Given the description of an element on the screen output the (x, y) to click on. 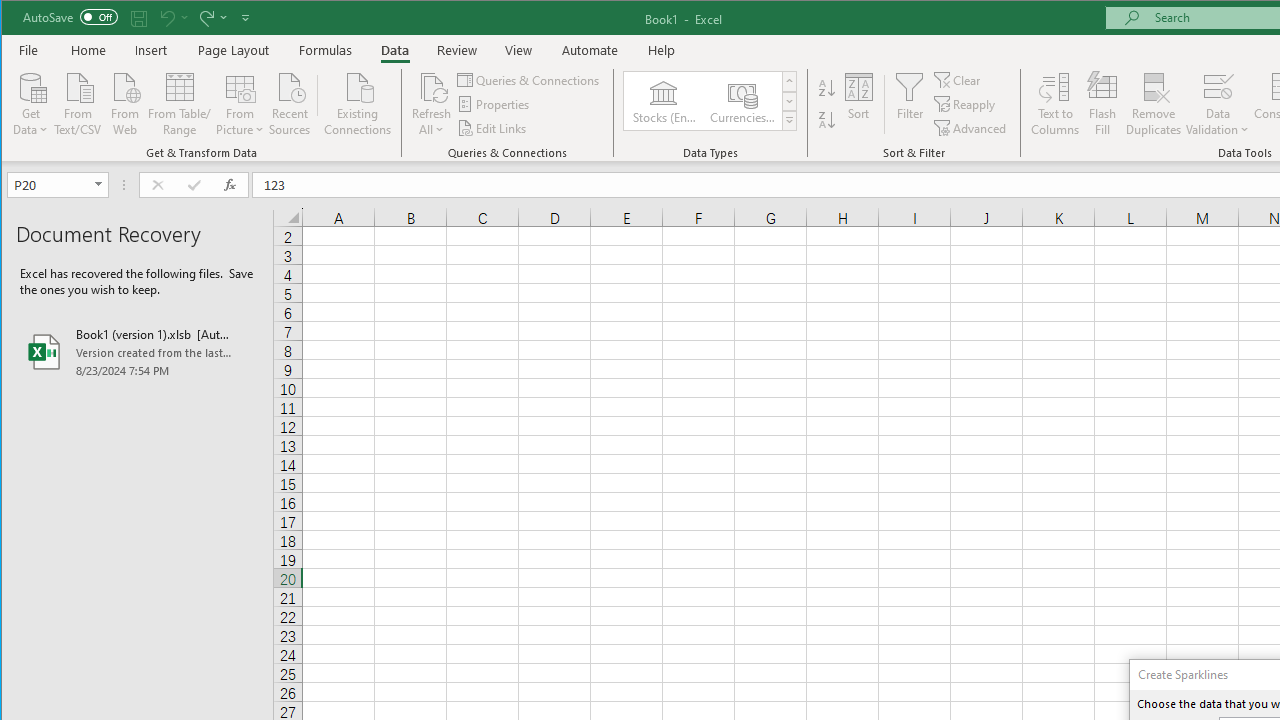
Undo (172, 17)
Customize Quick Access Toolbar (245, 17)
Redo (205, 17)
Filter (909, 104)
Remove Duplicates (1153, 104)
Clear (958, 80)
Reapply (966, 103)
Undo (166, 17)
From Text/CSV (77, 101)
Refresh All (431, 86)
Flash Fill (1102, 104)
System (19, 18)
